Given the description of an element on the screen output the (x, y) to click on. 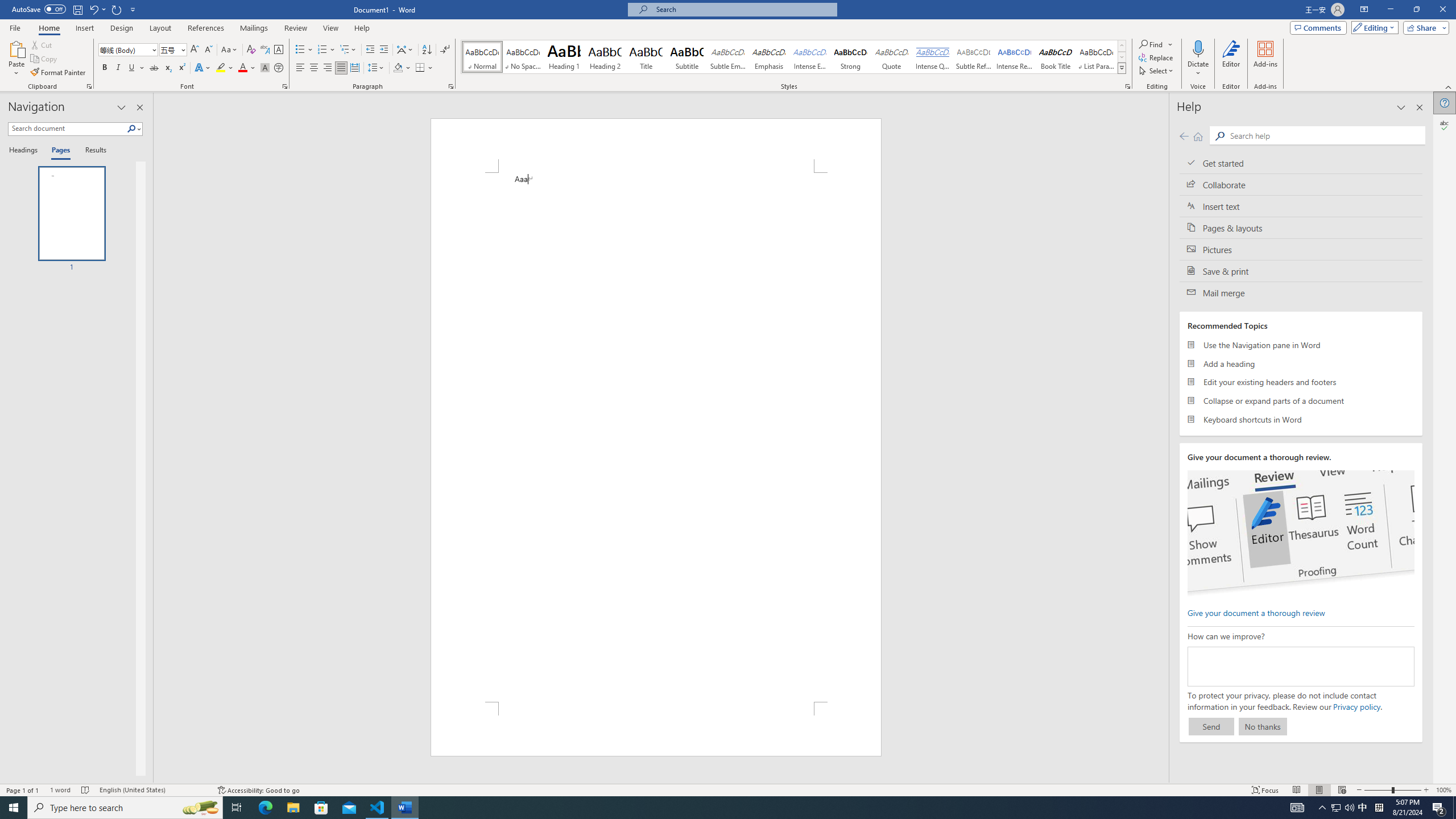
Intense Quote (932, 56)
AutomationID: QuickStylesGallery (794, 56)
Multilevel List (347, 49)
Styles (1121, 67)
Enclose Characters... (278, 67)
Microsoft search (742, 9)
Italic (118, 67)
